Given the description of an element on the screen output the (x, y) to click on. 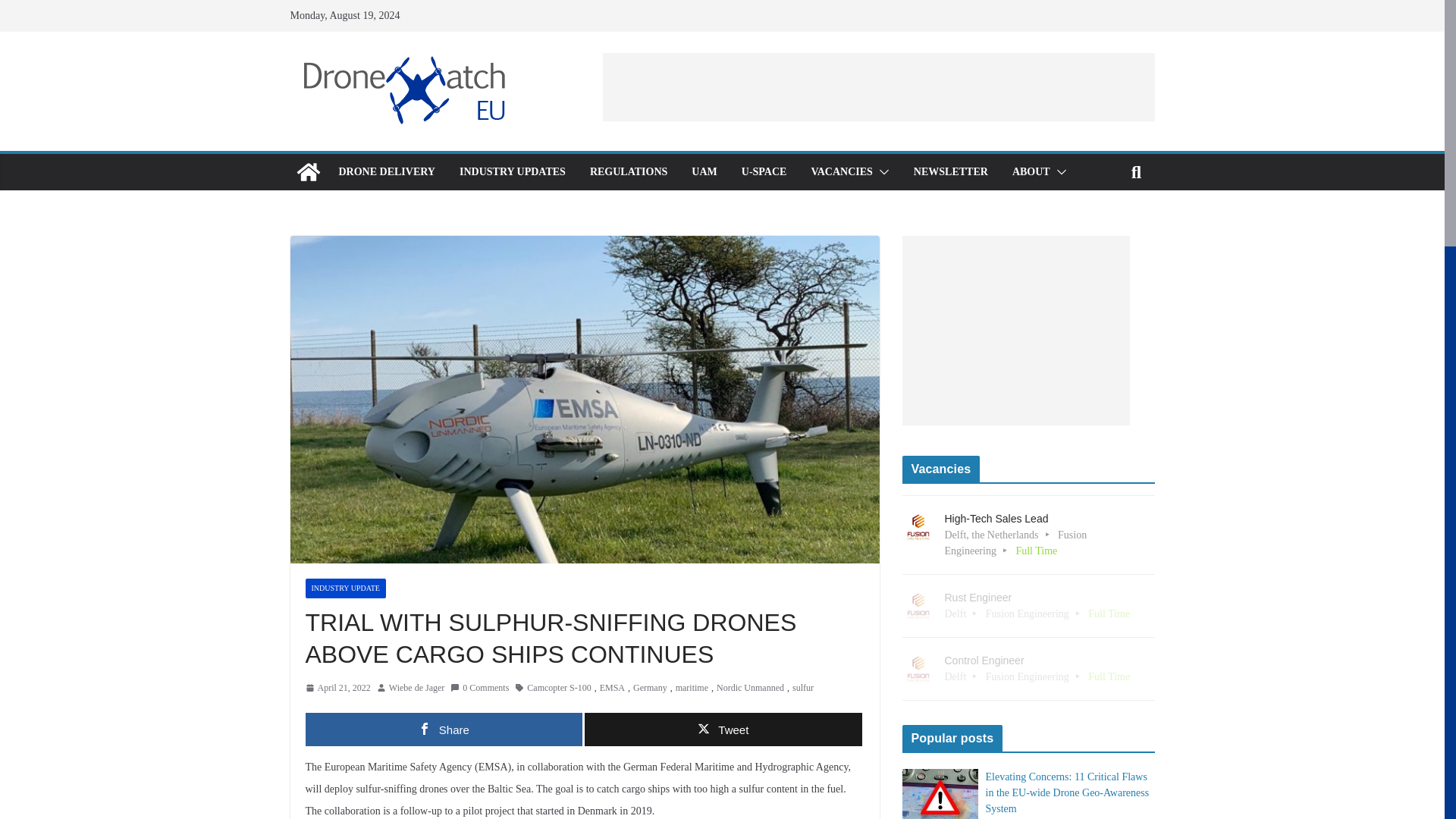
Camcopter S-100 (559, 688)
17:11 (336, 688)
Dronewatch Europe (307, 171)
DRONE DELIVERY (385, 171)
sulfur (802, 688)
ABOUT (1030, 171)
NEWSLETTER (951, 171)
U-SPACE (764, 171)
Germany (649, 688)
INDUSTRY UPDATES (513, 171)
